Given the description of an element on the screen output the (x, y) to click on. 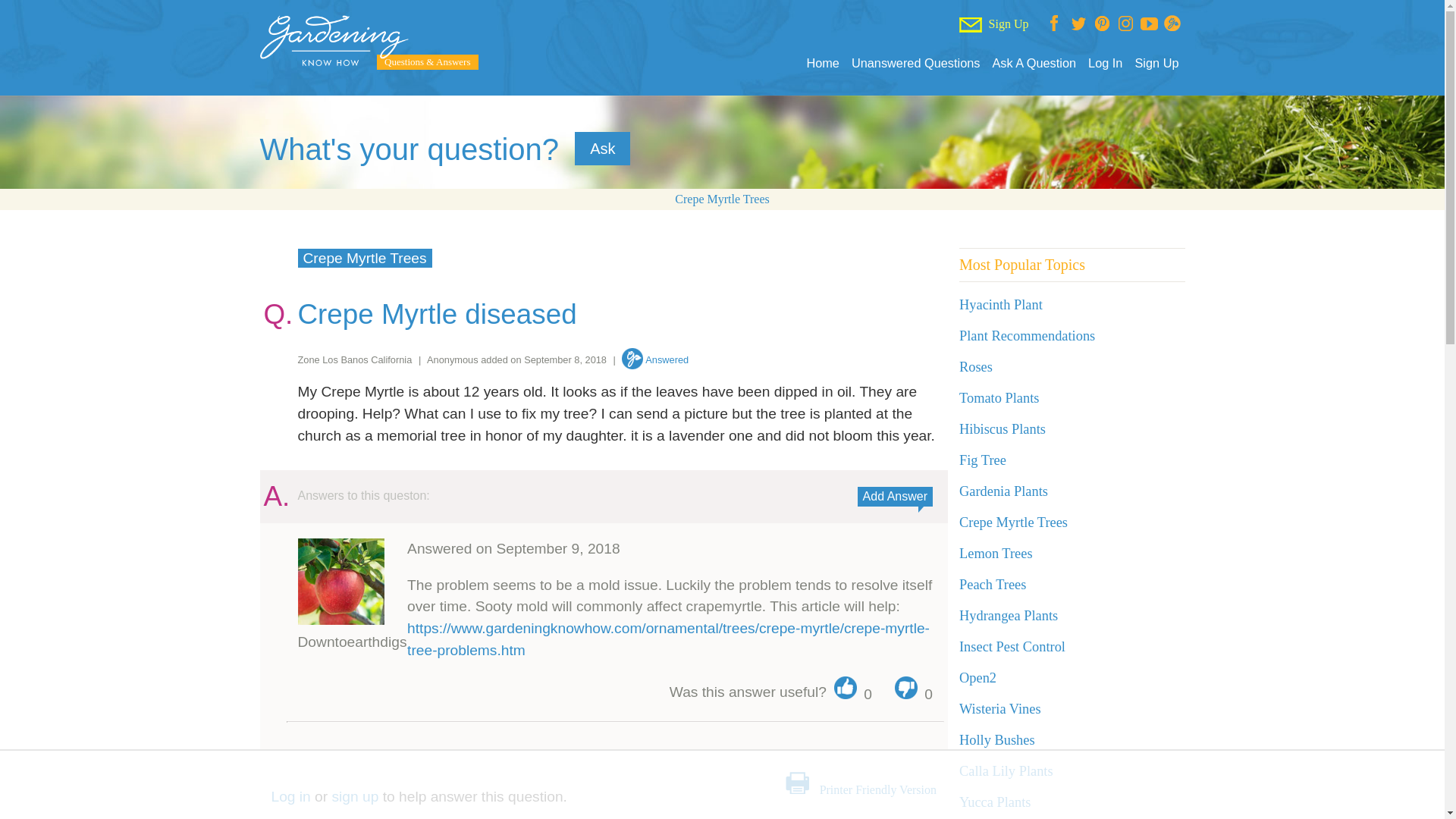
Hibiscus Plants (1002, 428)
Lemon Trees (995, 553)
Log in (290, 796)
Roses (975, 366)
Tomato Plants (999, 397)
Printer Friendly Version (877, 789)
Unanswered Questions (916, 62)
Hydrangea Plants (1008, 615)
Crepe Myrtle Trees (1013, 522)
Plant Recommendations (1026, 335)
Home (822, 62)
Roses (975, 366)
Printer Friendly Version (877, 789)
Ask A Question (1033, 62)
Add Answer (895, 496)
